Given the description of an element on the screen output the (x, y) to click on. 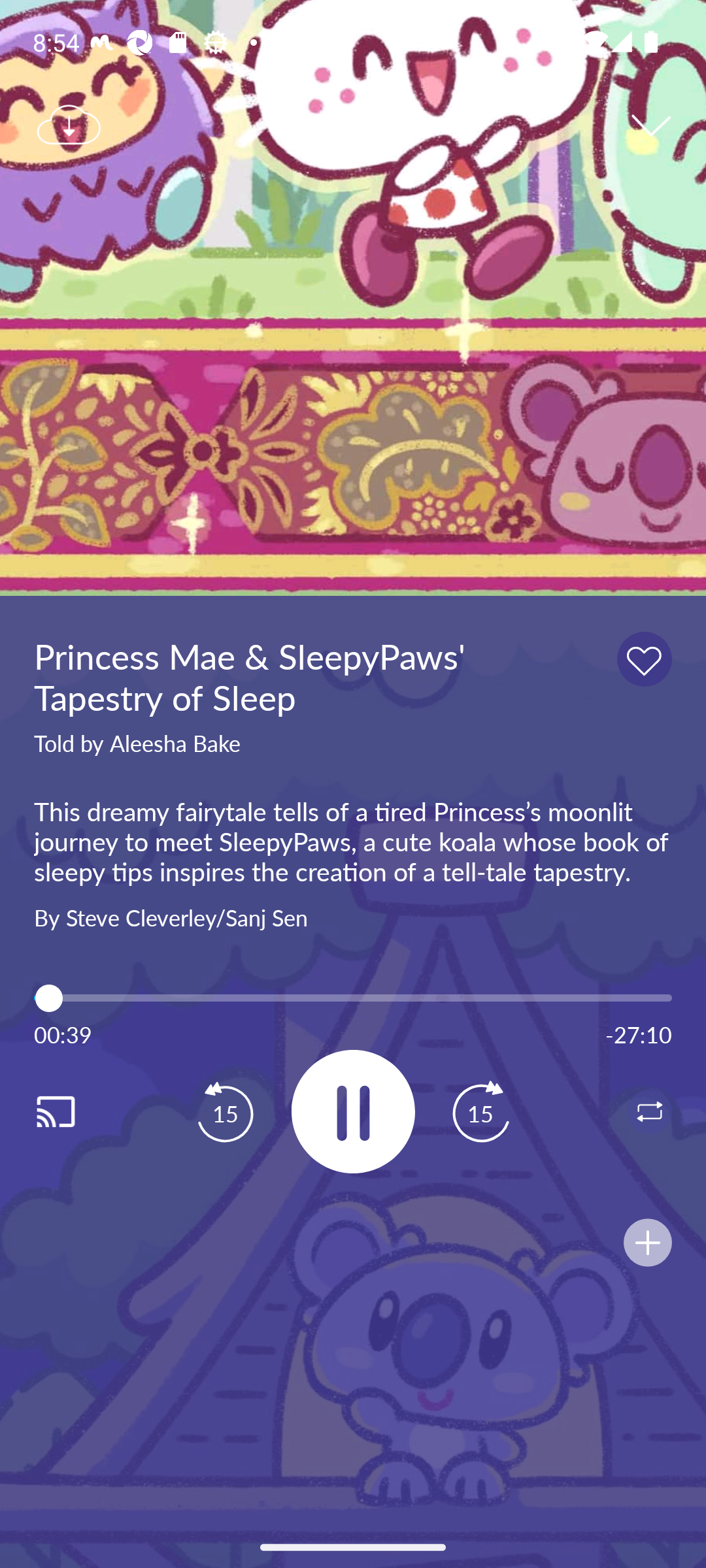
38.0 (352, 997)
Cast. Disconnected (76, 1111)
